Given the description of an element on the screen output the (x, y) to click on. 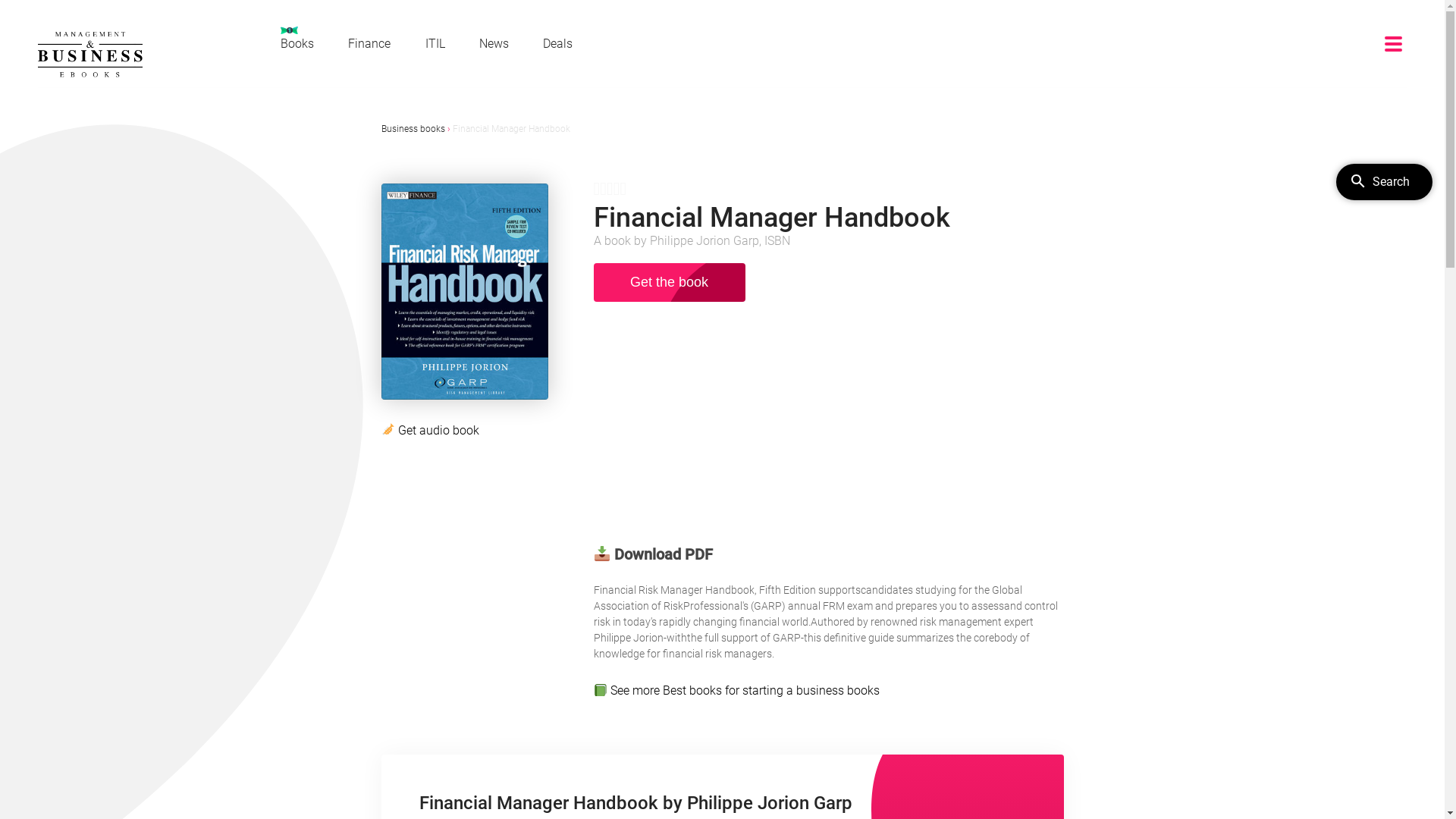
ITIL Element type: text (435, 43)
Advertisement Element type: hover (828, 429)
Get the book Element type: text (668, 282)
Get the book Element type: text (668, 283)
Business books Element type: text (412, 128)
Download PDF Element type: text (652, 554)
See more Element type: text (636, 690)
Deals Element type: text (557, 43)
Get audio book Element type: text (438, 430)
Best books for starting a business books Element type: text (770, 690)
Books Element type: text (296, 38)
Financial Manager Handbook Element type: text (510, 128)
News Element type: text (493, 43)
Finance Element type: text (369, 43)
